Given the description of an element on the screen output the (x, y) to click on. 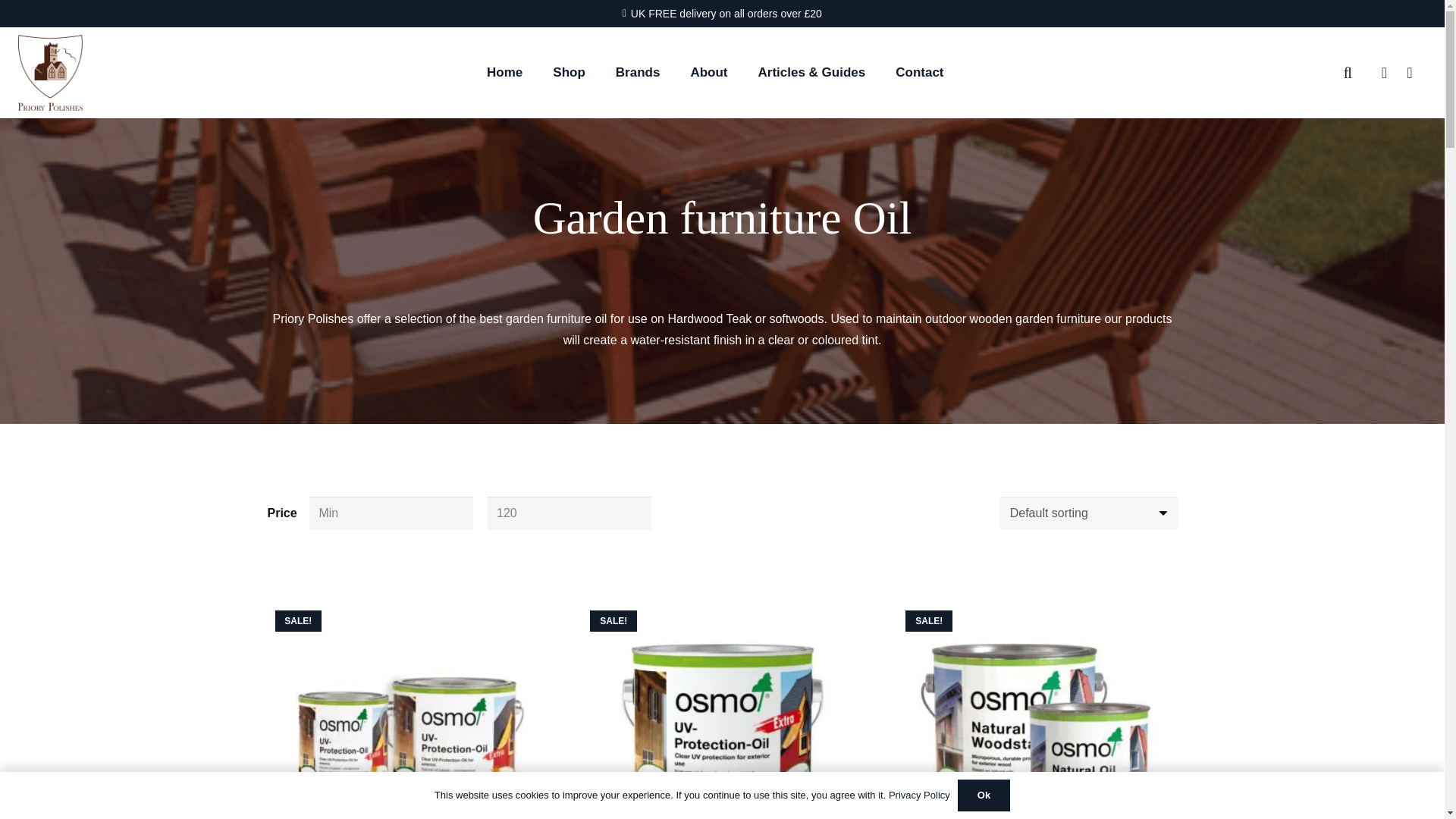
Home (504, 72)
Shop (568, 72)
